Given the description of an element on the screen output the (x, y) to click on. 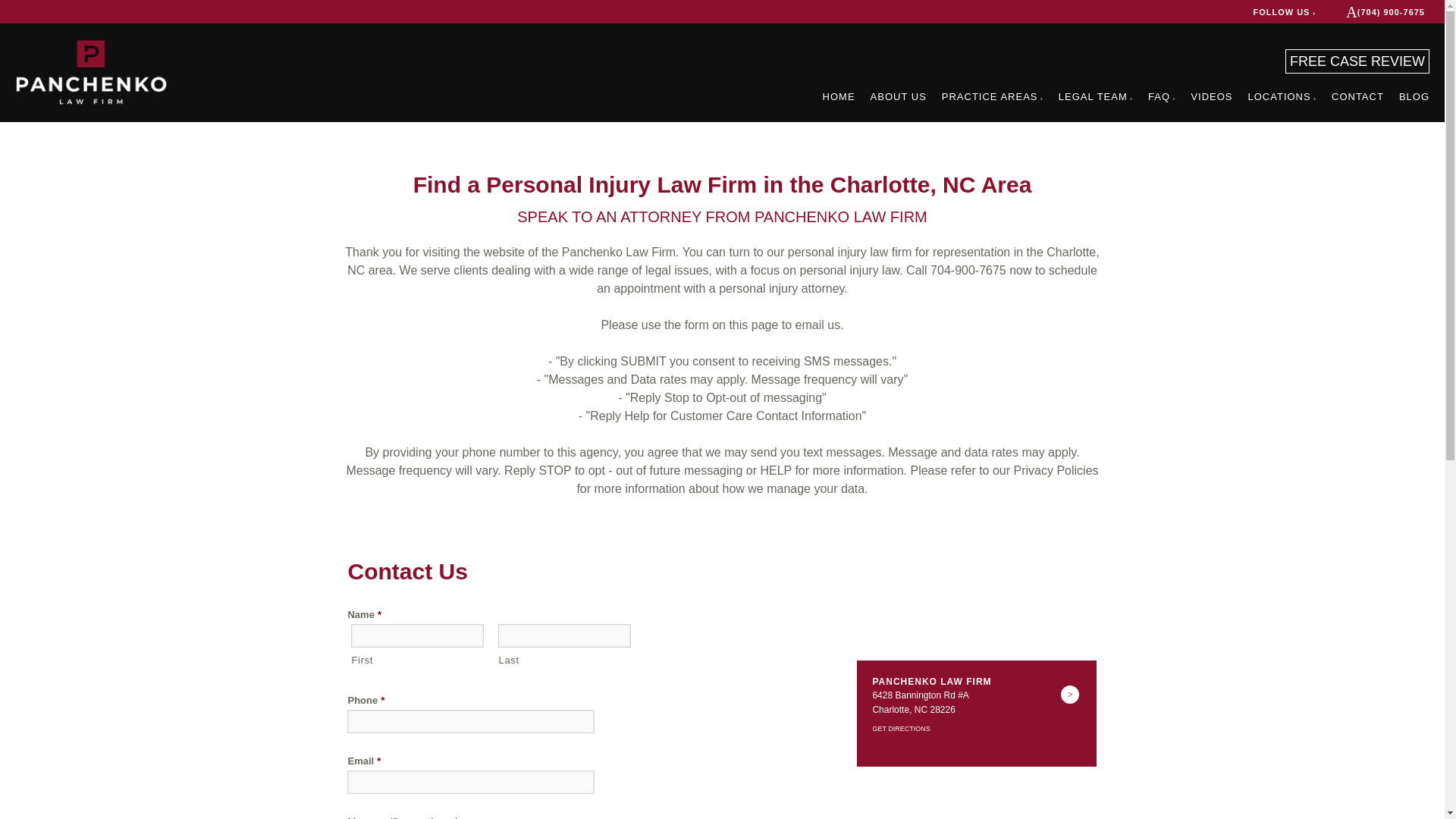
See Details (1069, 694)
ABOUT US (898, 96)
FREE CASE REVIEW (1357, 61)
HOME (839, 96)
